Given the description of an element on the screen output the (x, y) to click on. 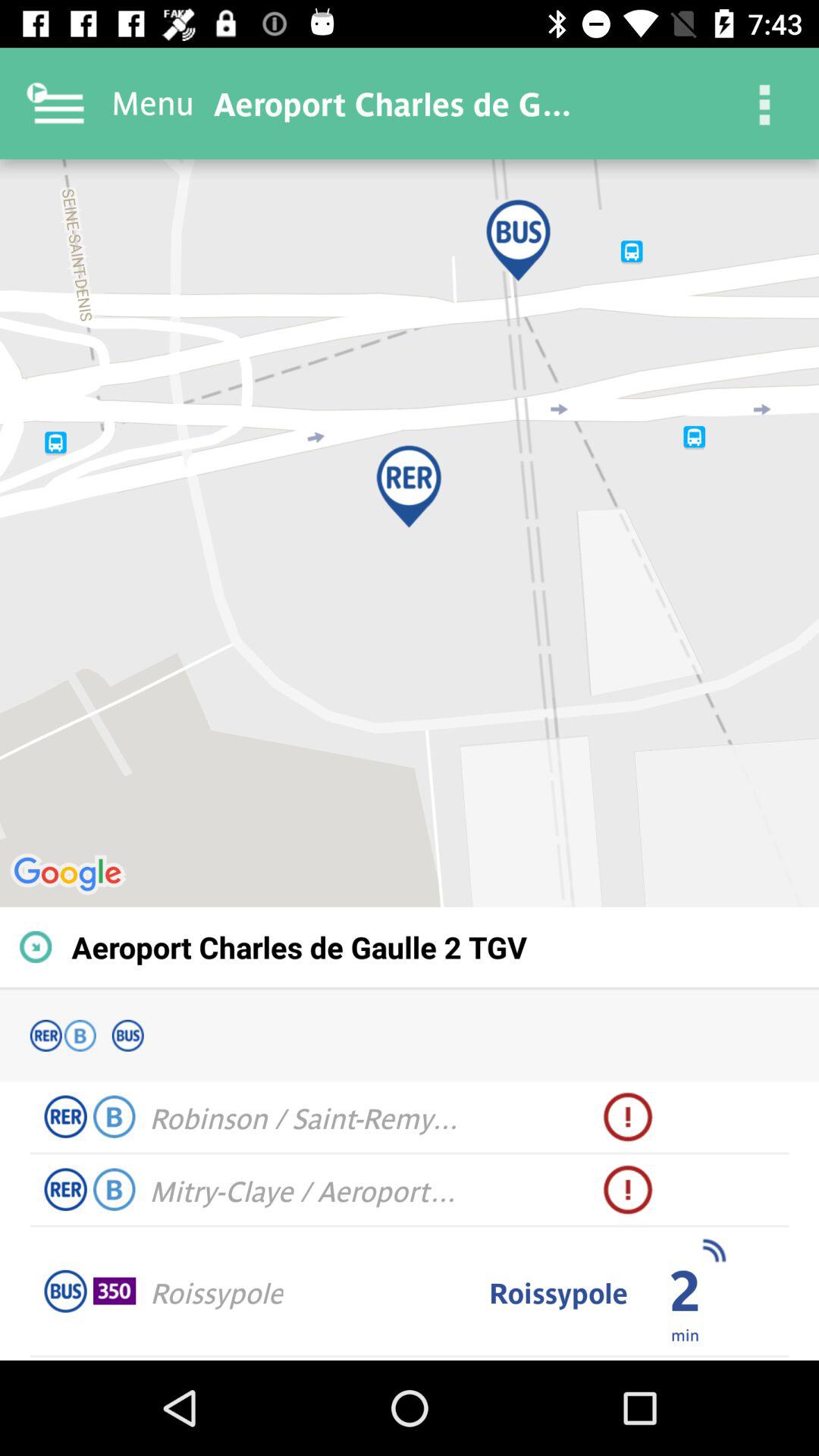
select the icon above the min (713, 1250)
